Given the description of an element on the screen output the (x, y) to click on. 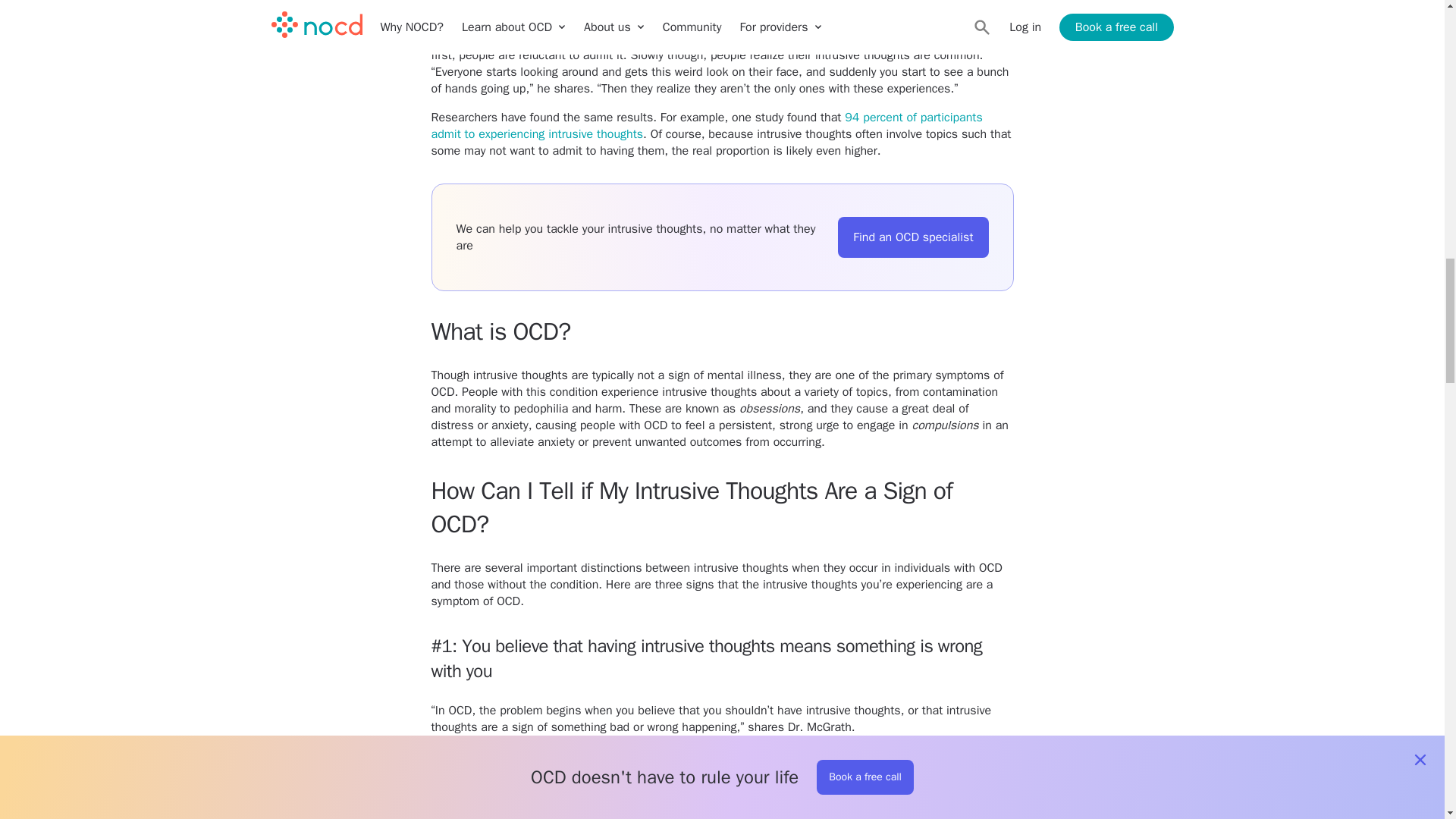
an urge to drive their car off a bridge (888, 38)
Find an OCD specialist (913, 237)
